Given the description of an element on the screen output the (x, y) to click on. 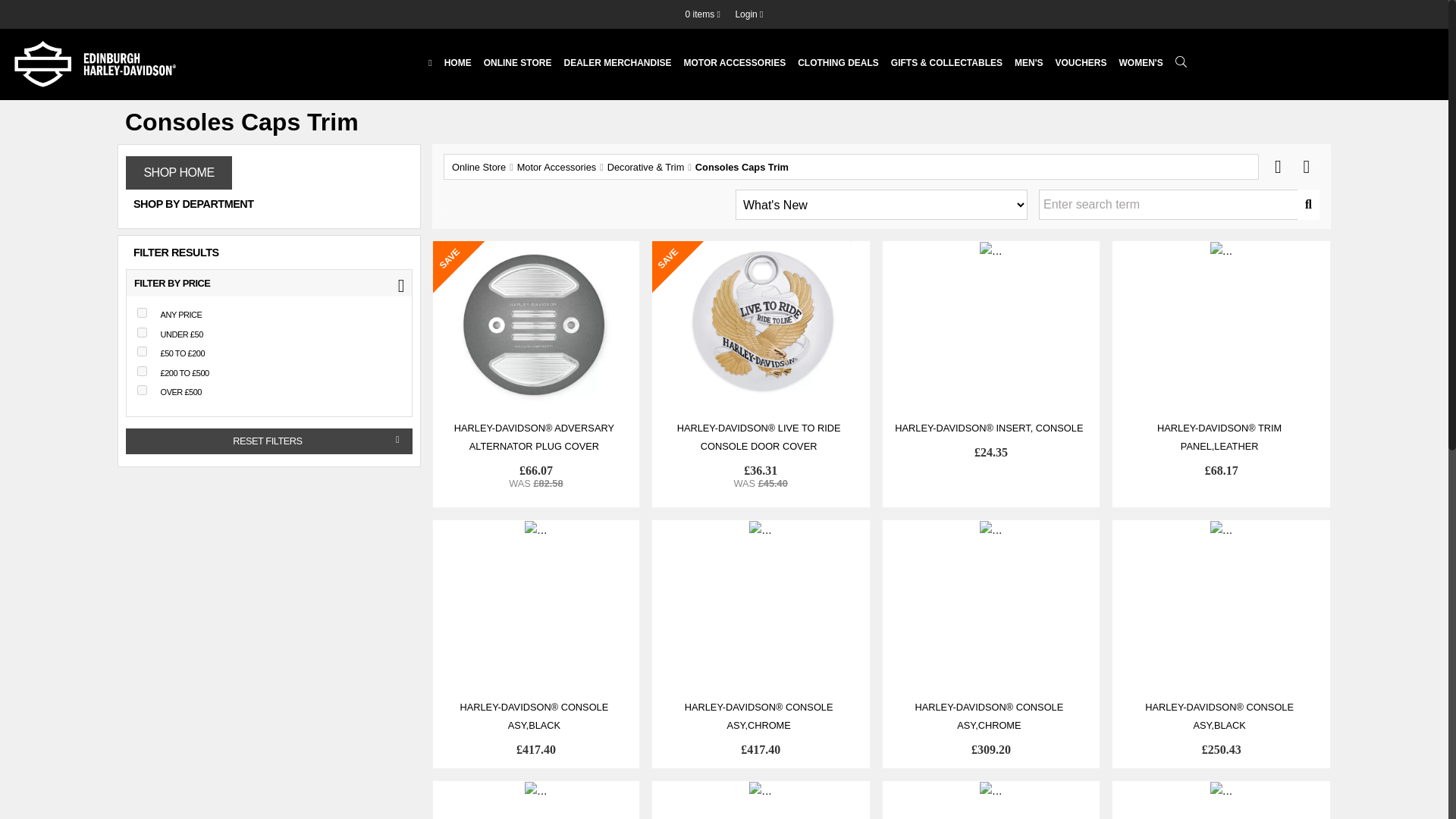
MEN'S (1029, 62)
VOUCHERS (1081, 62)
MOTOR ACCESSORIES (735, 62)
500- (141, 389)
FILTER BY PRICE (269, 283)
Shop home (178, 172)
SHOP HOME (178, 172)
Men's (1029, 62)
Online Store (517, 62)
Vouchers (1081, 62)
- (141, 312)
Motor Accessories (735, 62)
Women's (1141, 62)
CLOTHING DEALS (838, 62)
Cart (702, 14)
